Given the description of an element on the screen output the (x, y) to click on. 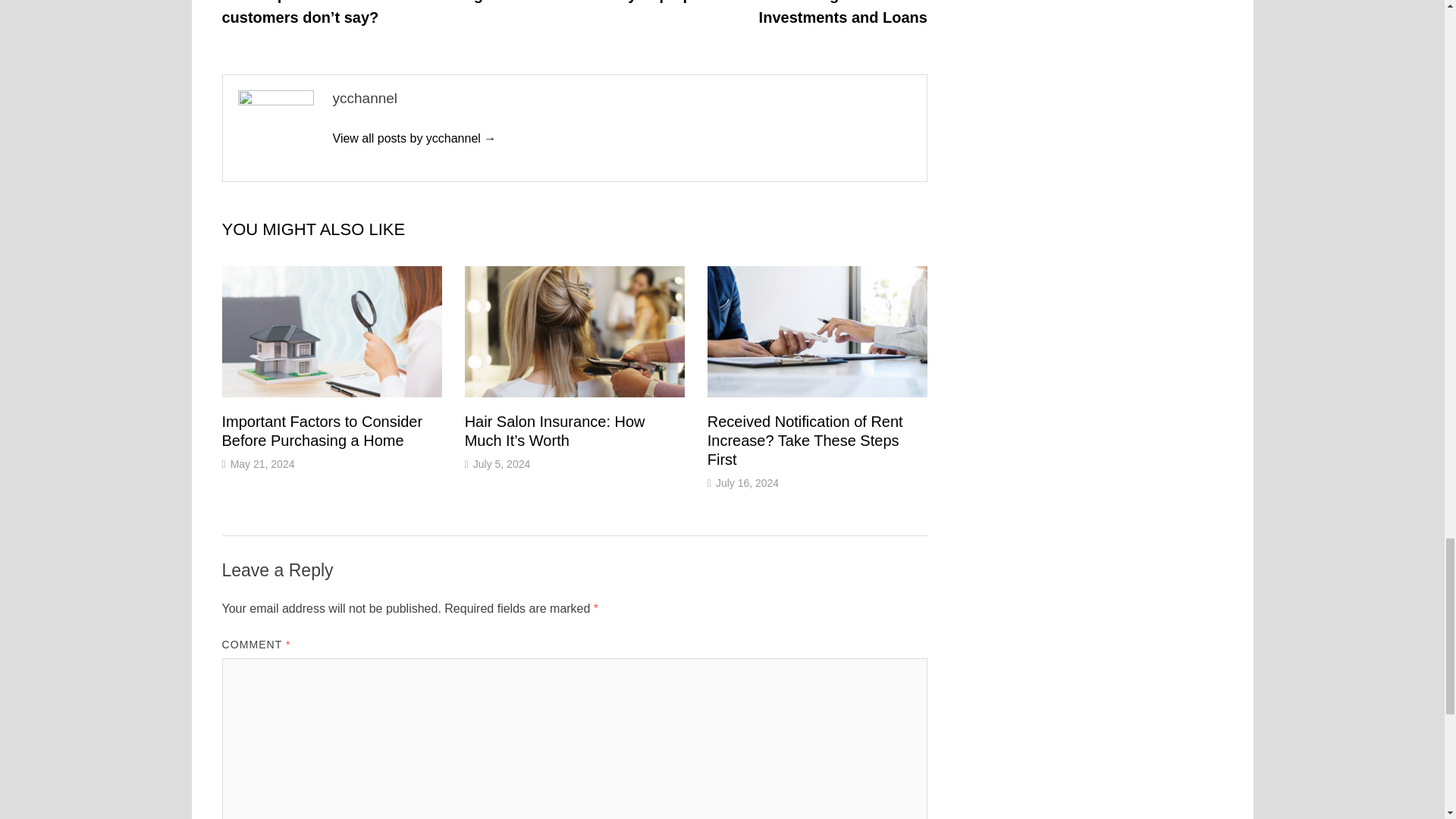
Important Factors to Consider Before Purchasing a Home (321, 430)
Important Factors to Consider Before Purchasing a Home (321, 430)
July 16, 2024 (747, 482)
July 5, 2024 (502, 463)
May 21, 2024 (262, 463)
ycchannel (413, 137)
